Given the description of an element on the screen output the (x, y) to click on. 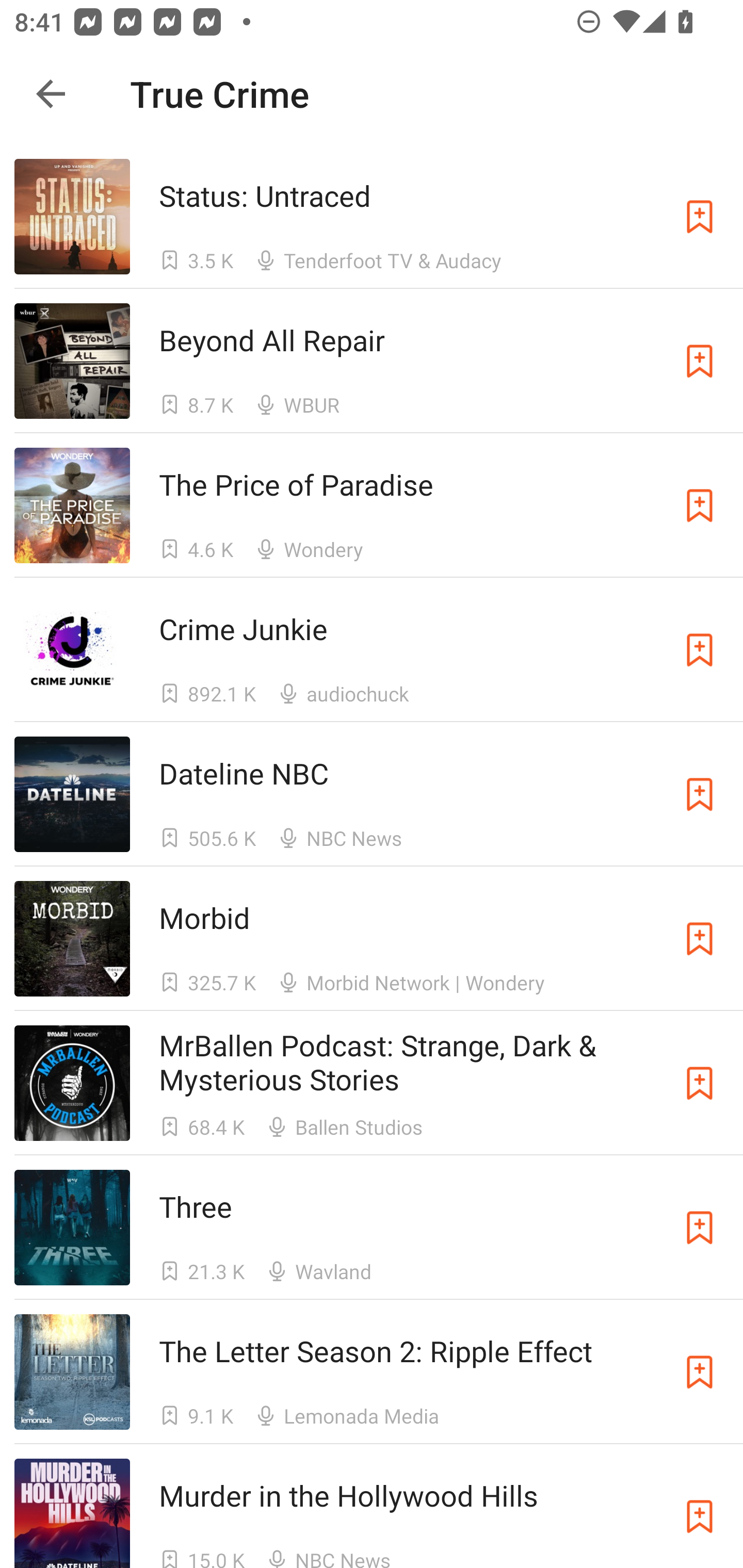
Navigate up (50, 93)
Subscribe (699, 216)
Subscribe (699, 360)
Subscribe (699, 505)
Subscribe (699, 649)
Subscribe (699, 793)
Subscribe (699, 939)
Subscribe (699, 1083)
Three Three  21.3 K  Wavland Subscribe (371, 1227)
Subscribe (699, 1227)
Subscribe (699, 1371)
Subscribe (699, 1513)
